Given the description of an element on the screen output the (x, y) to click on. 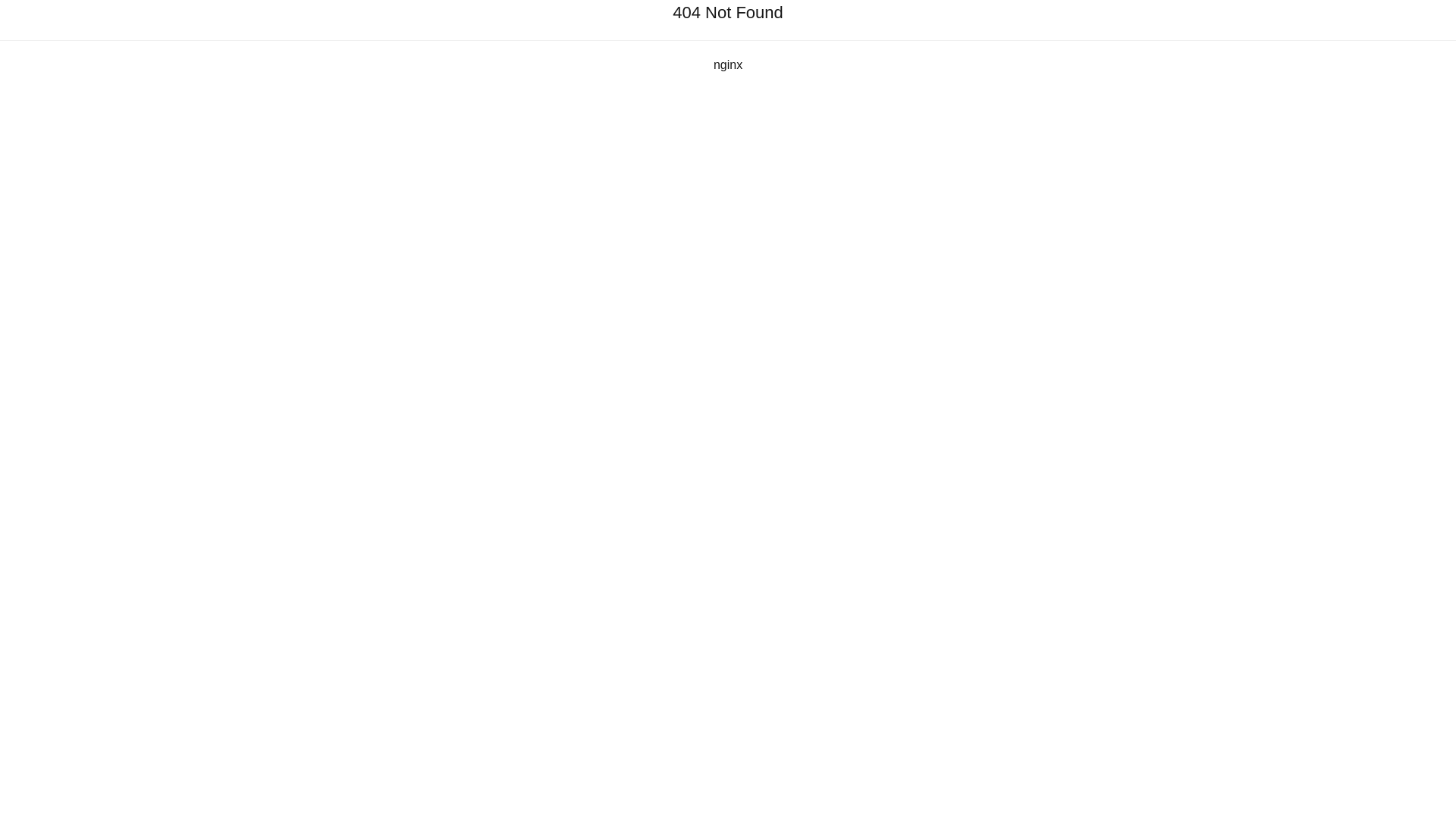
good Element type: hover (1128, 165)
bad Element type: hover (1078, 165)
ukyun Element type: text (525, 349)
2023 Element type: text (726, 283)
regular Element type: hover (1111, 165)
gorgeous Element type: hover (1144, 165)
ukm3u8 Element type: text (596, 349)
poor Element type: hover (1094, 165)
